Given the description of an element on the screen output the (x, y) to click on. 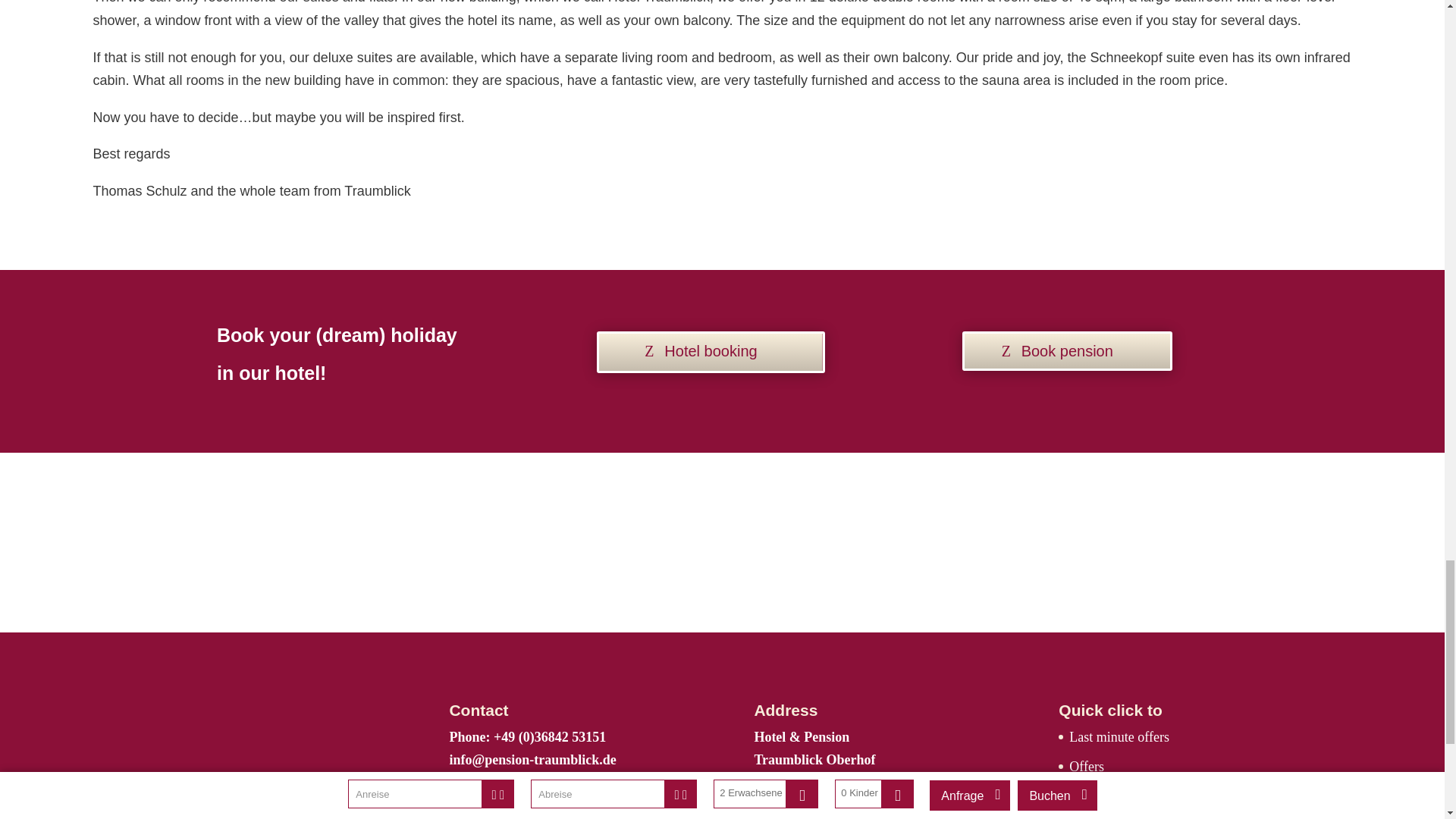
Externe-Logos (722, 542)
